Given the description of an element on the screen output the (x, y) to click on. 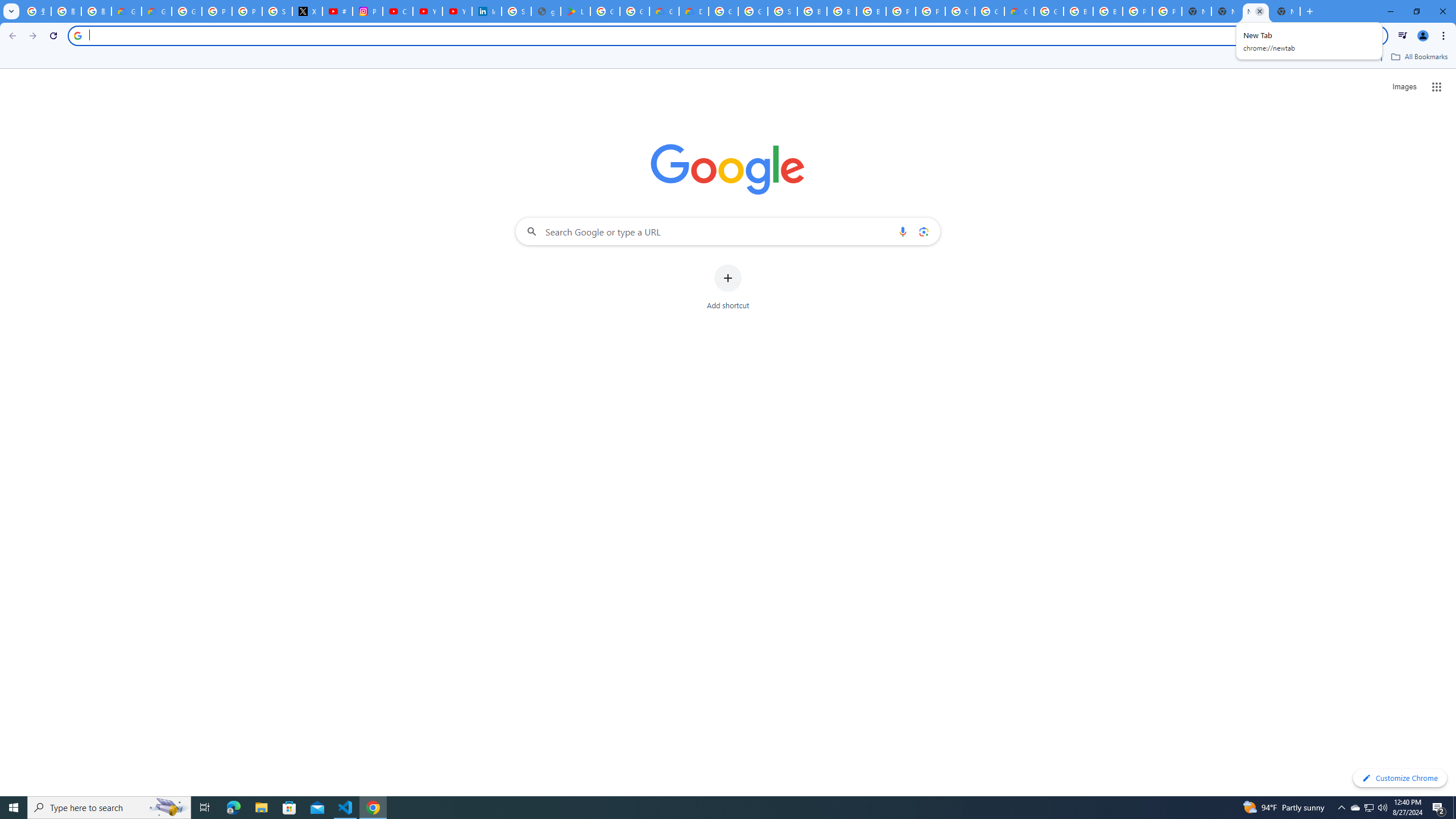
Google Cloud Platform (989, 11)
YouTube Culture & Trends - YouTube Top 10, 2021 (456, 11)
